Given the description of an element on the screen output the (x, y) to click on. 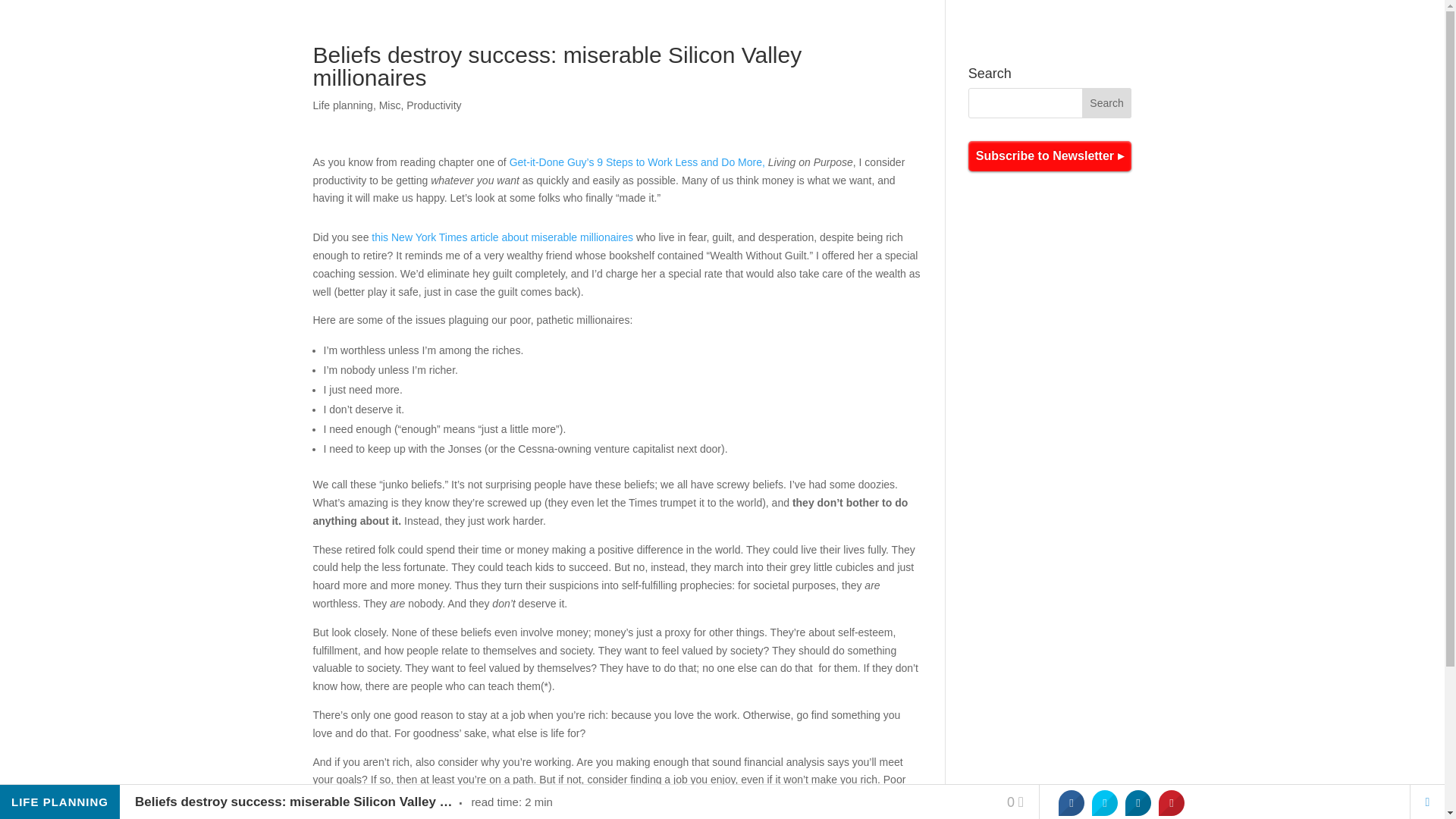
Search (1106, 102)
this New York Times article about miserable millionaires (502, 236)
Share on Facebook (1071, 802)
Link to Get-it-Done Guy's 9 Steps to Work Less and Do More (637, 162)
Share on Twitter (1105, 802)
0 (1014, 801)
Search (1106, 102)
Share on Linkedin (1138, 802)
Share on Pinterest (1171, 802)
Life planning (342, 105)
